Given the description of an element on the screen output the (x, y) to click on. 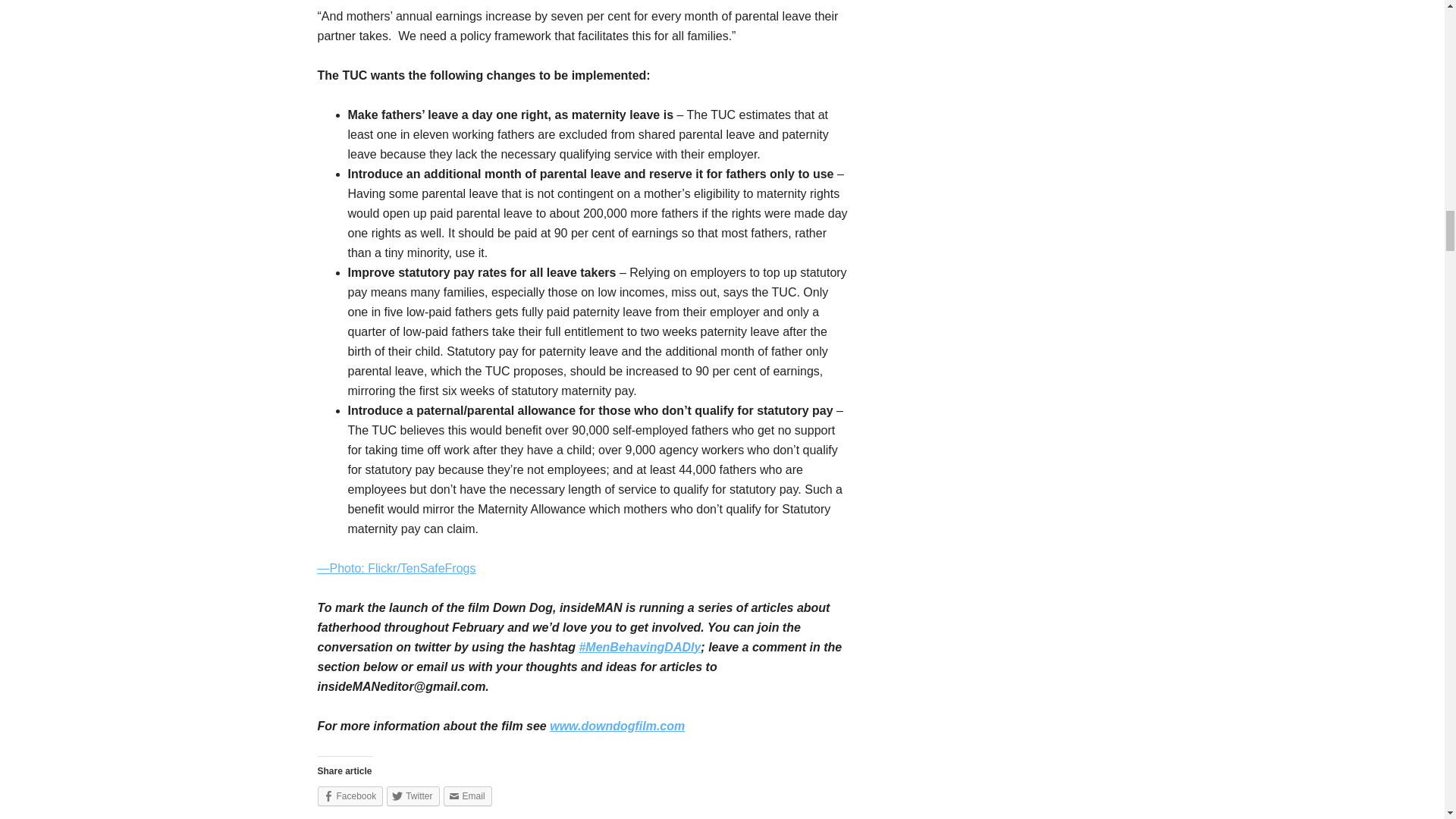
Facebook (349, 795)
Click to email this to a friend (468, 795)
Click to share on Facebook (349, 795)
Email (468, 795)
www.downdogfilm.com (617, 725)
Click to share on Twitter (413, 795)
Twitter (413, 795)
